Given the description of an element on the screen output the (x, y) to click on. 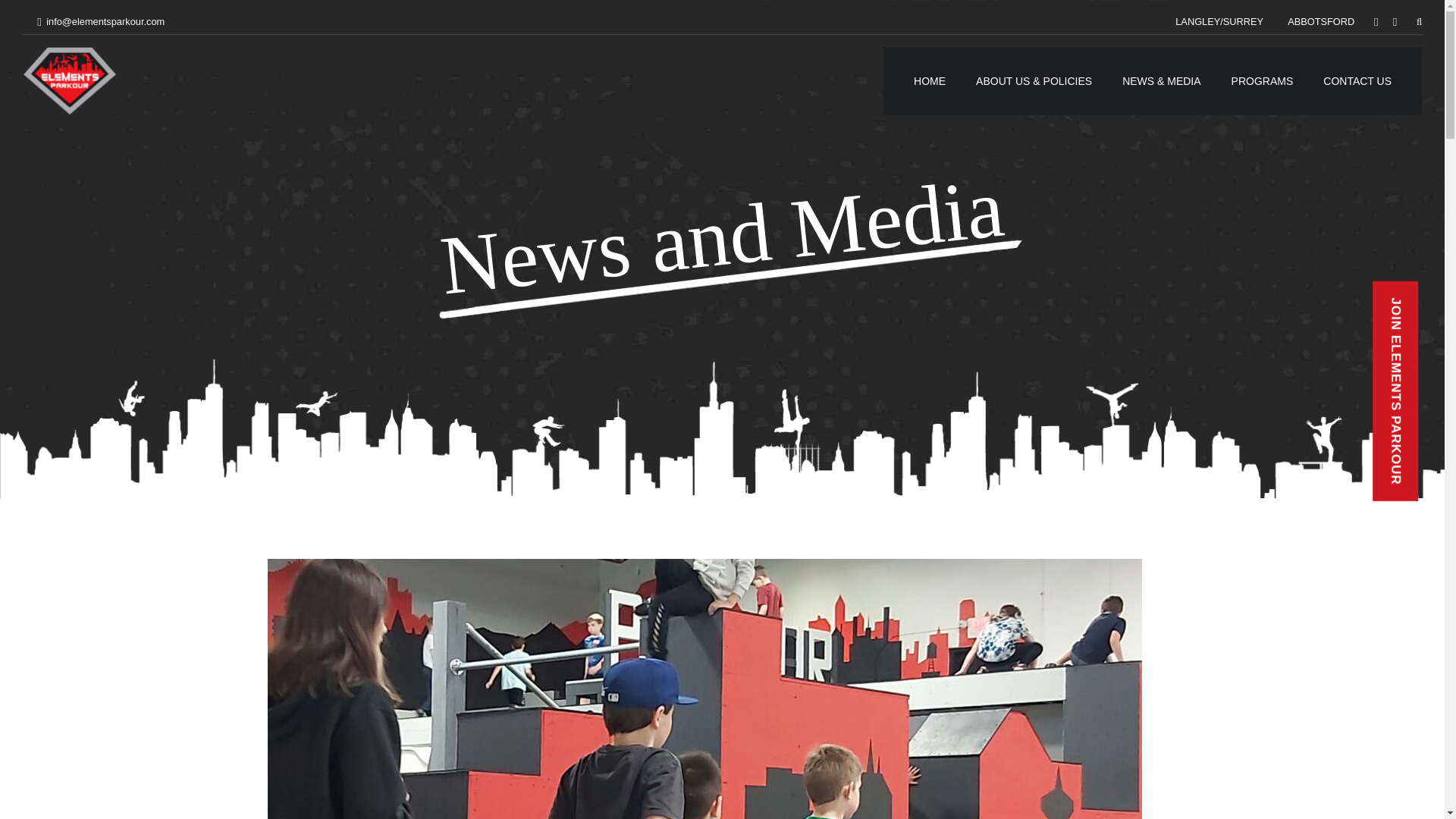
PROGRAMS (1262, 80)
CONTACT US (1357, 80)
HOME (929, 80)
ABBOTSFORD (1320, 21)
